Given the description of an element on the screen output the (x, y) to click on. 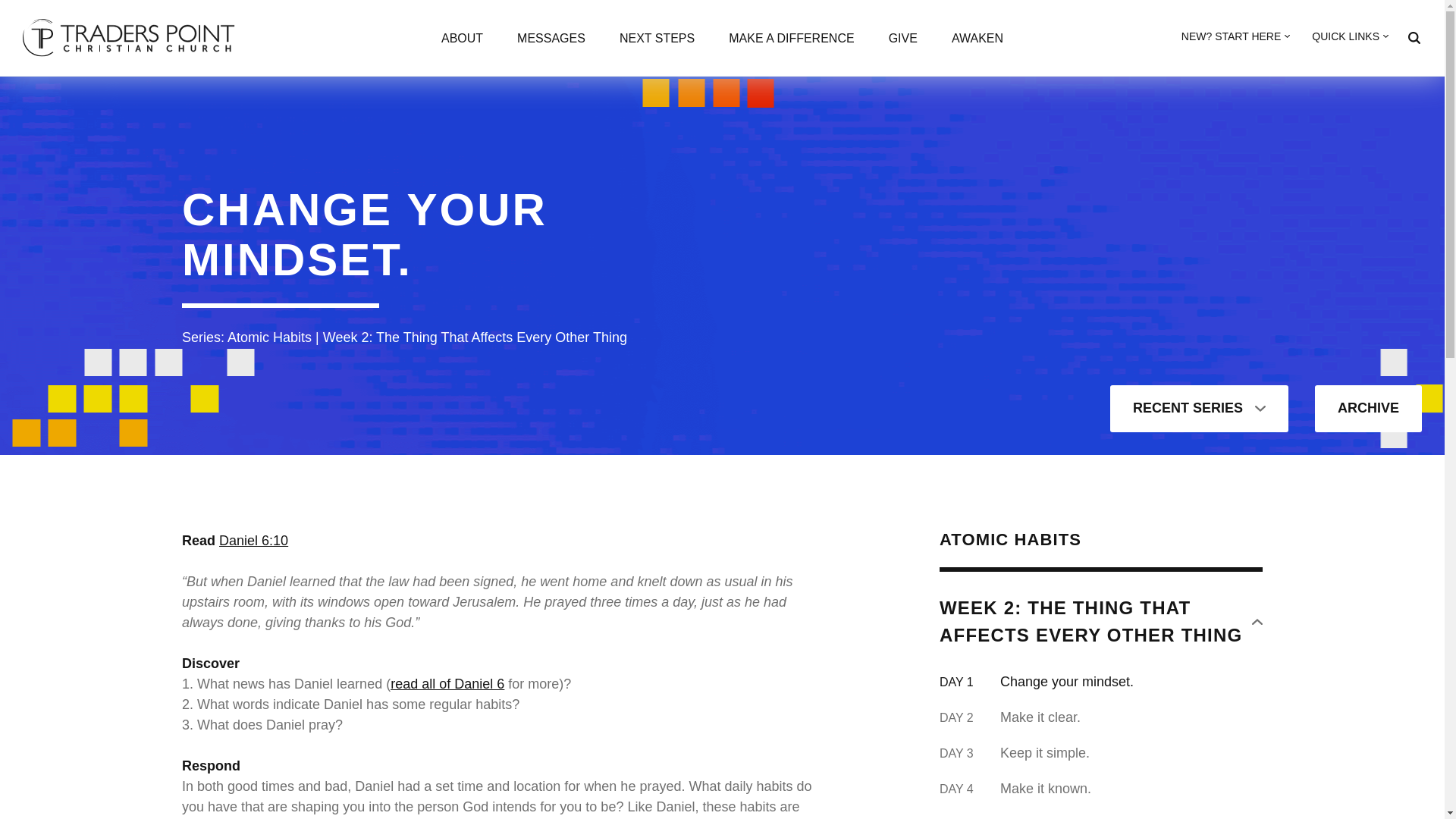
MAKE A DIFFERENCE (791, 40)
MESSAGES (550, 40)
NEXT STEPS (657, 40)
AWAKEN (977, 40)
GIVE (902, 40)
ABOUT (462, 40)
